Given the description of an element on the screen output the (x, y) to click on. 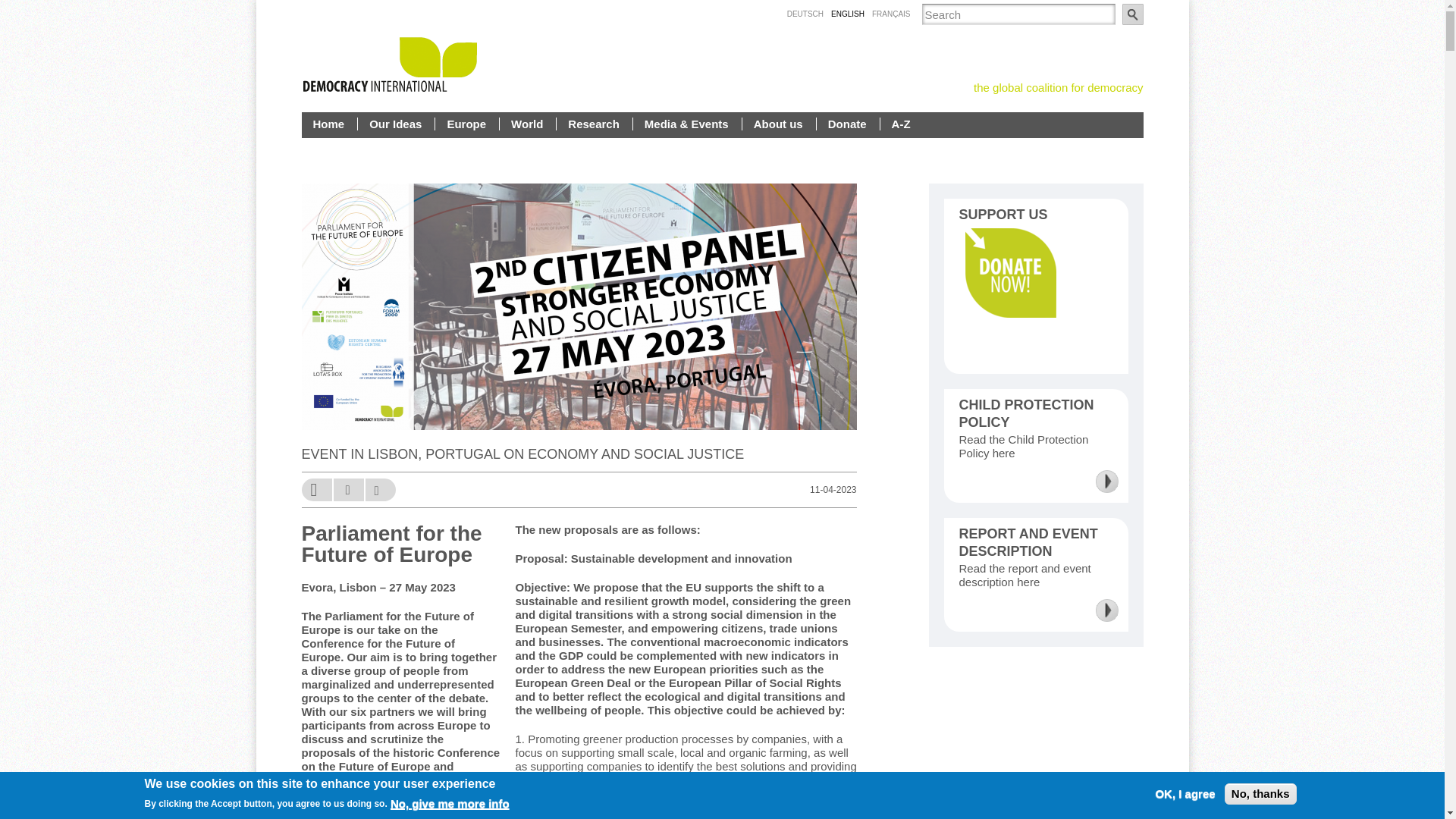
Our Ideas (396, 123)
Home (329, 123)
Search (1132, 14)
Search (1132, 14)
Home (329, 123)
Skip to main content (688, 1)
ENGLISH (847, 13)
DEUTSCH (805, 13)
Europe (467, 123)
Enter the terms you wish to search for. (1018, 14)
